Given the description of an element on the screen output the (x, y) to click on. 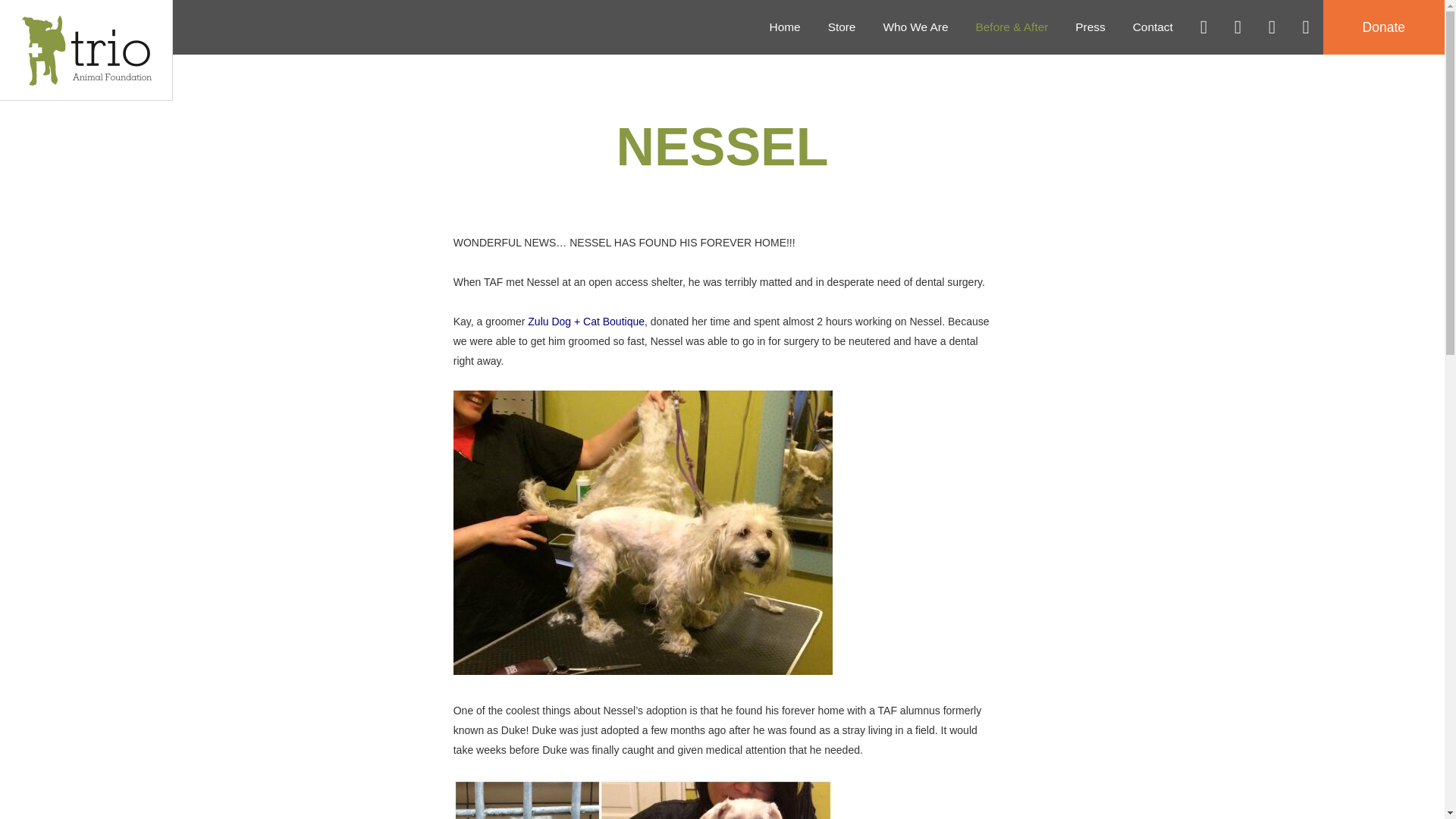
Home (784, 27)
Contact (1152, 27)
Who We Are (914, 27)
Store (841, 27)
Press (1089, 27)
